Given the description of an element on the screen output the (x, y) to click on. 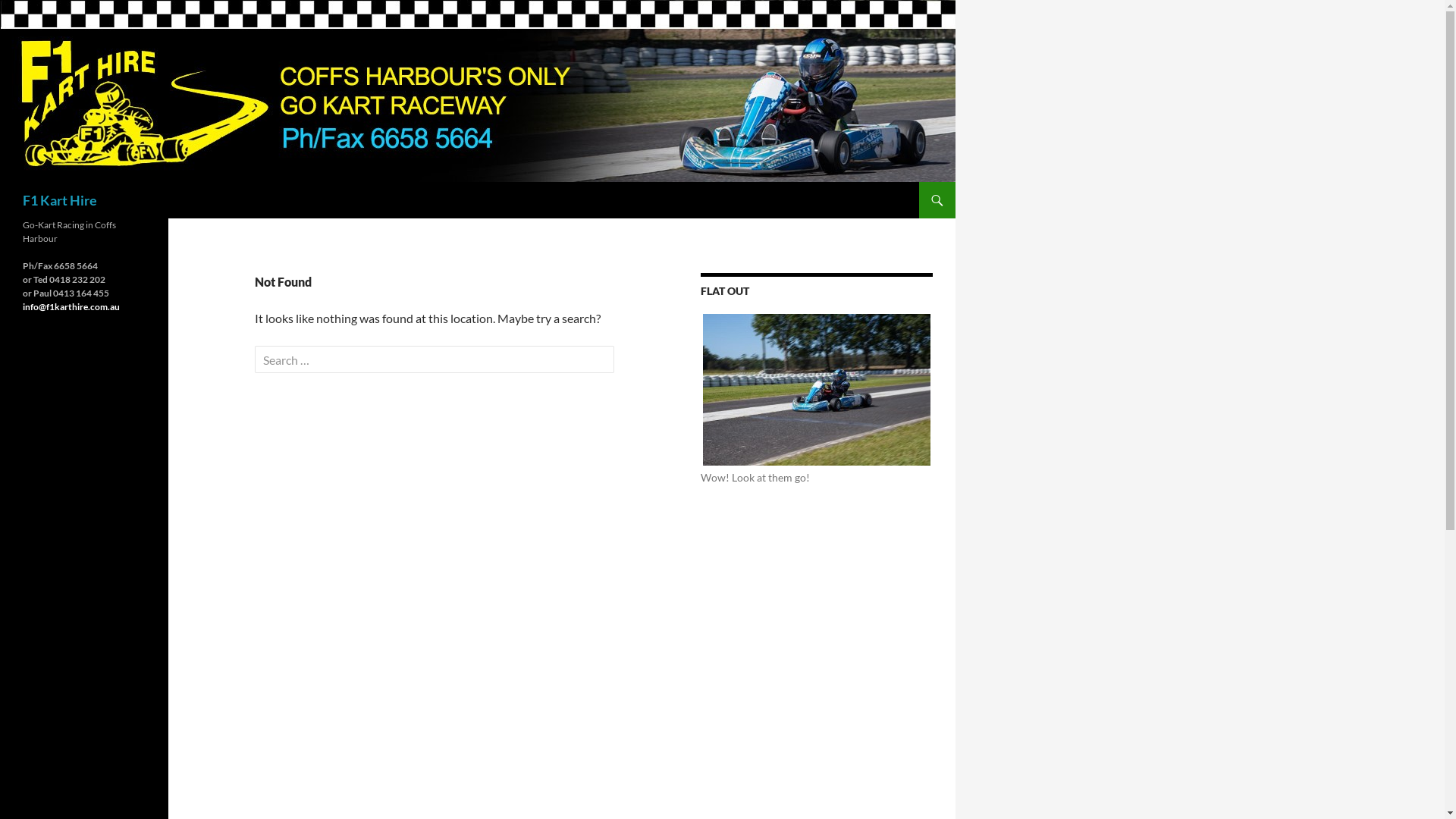
info@f1karthire.com.au Element type: text (70, 306)
Search Element type: text (3, 182)
Search Element type: text (40, 13)
SKIP TO CONTENT Element type: text (927, 182)
F1 Kart Hire Element type: text (59, 200)
